Given the description of an element on the screen output the (x, y) to click on. 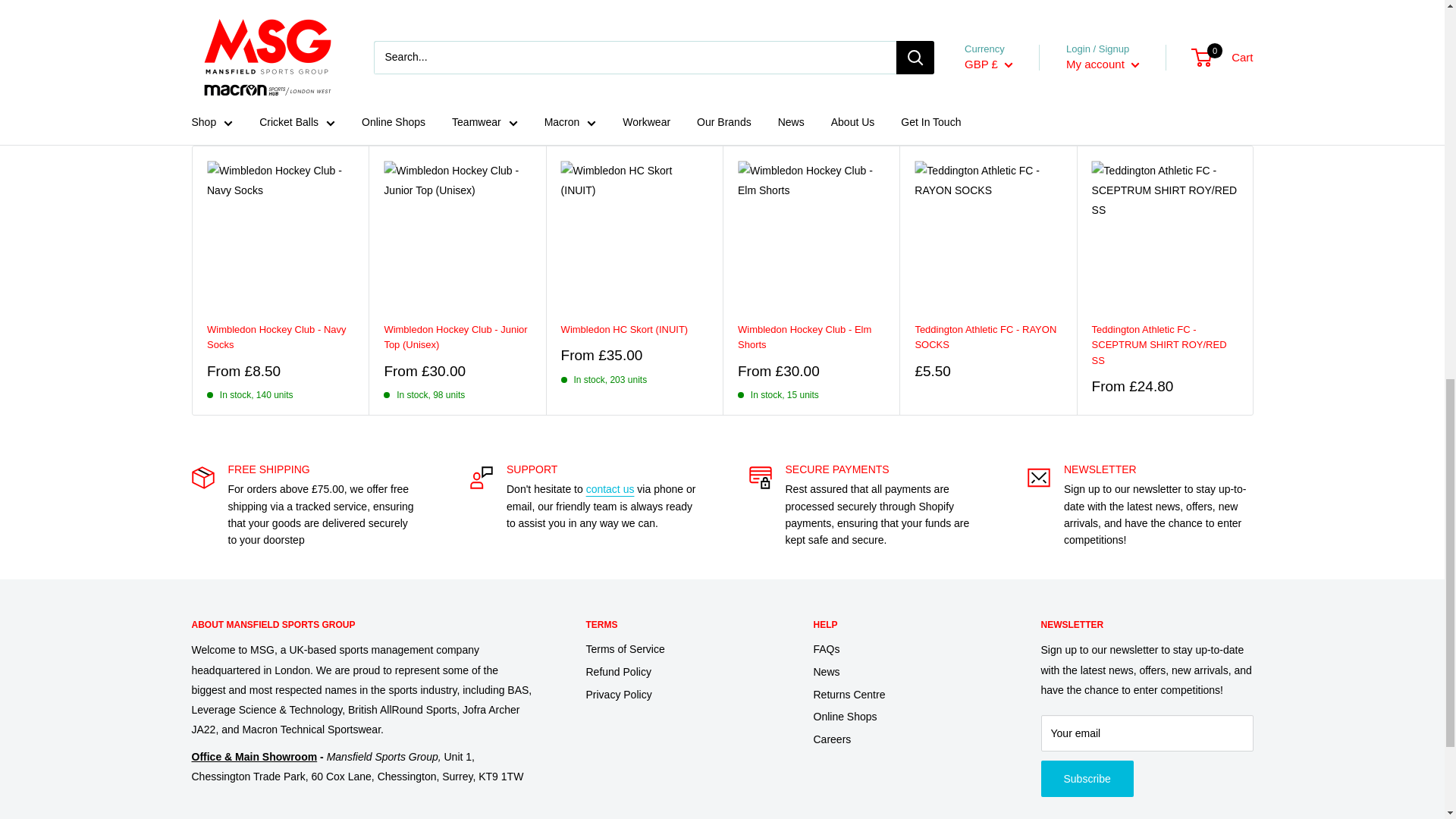
Get in Touch (610, 489)
